Given the description of an element on the screen output the (x, y) to click on. 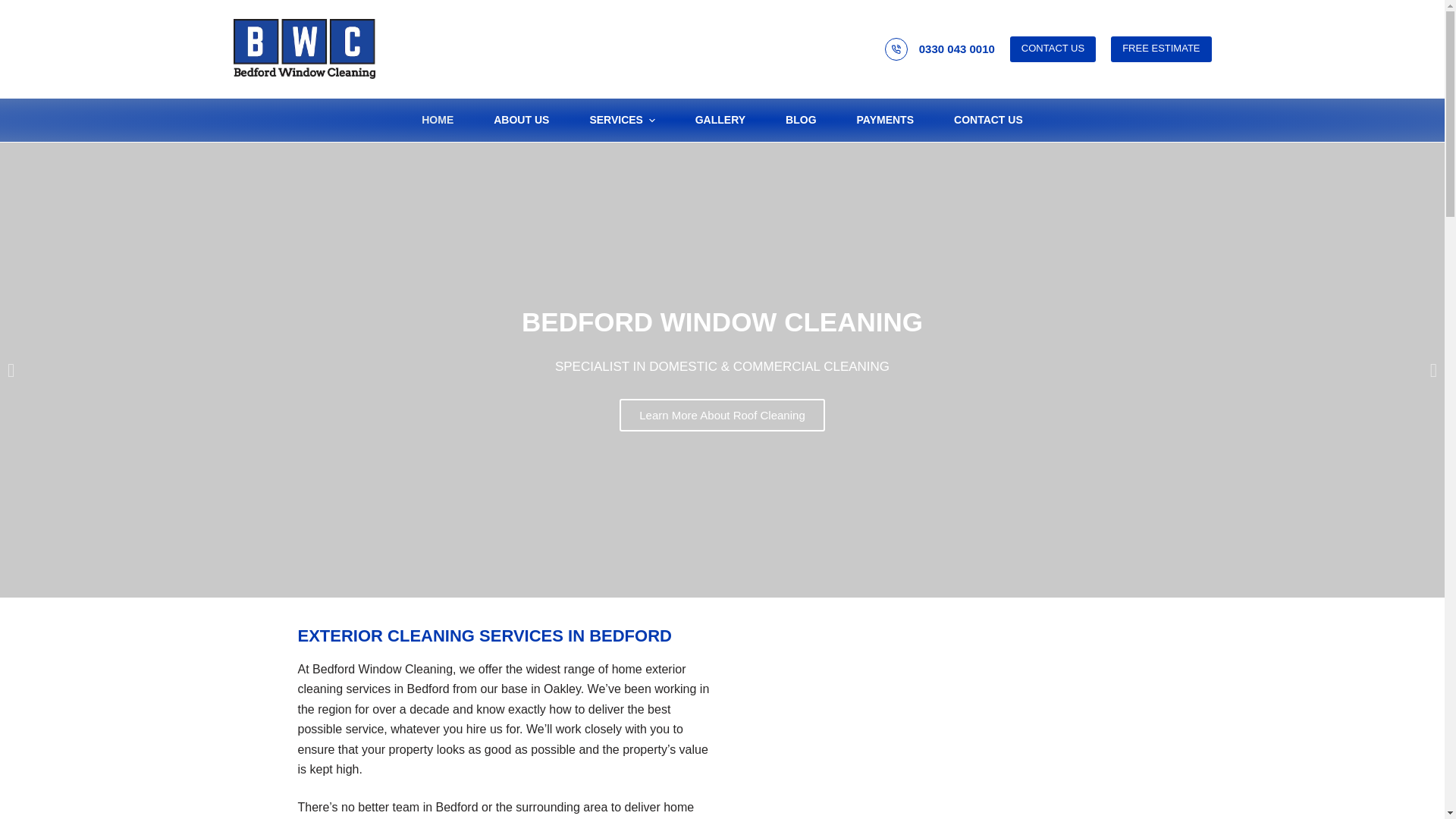
ABOUT US (521, 119)
HOME (448, 119)
Skip to content (15, 7)
FREE ESTIMATE (1160, 49)
SERVICES (622, 119)
0330 043 0010 (956, 48)
CONTACT US (1053, 49)
